Given the description of an element on the screen output the (x, y) to click on. 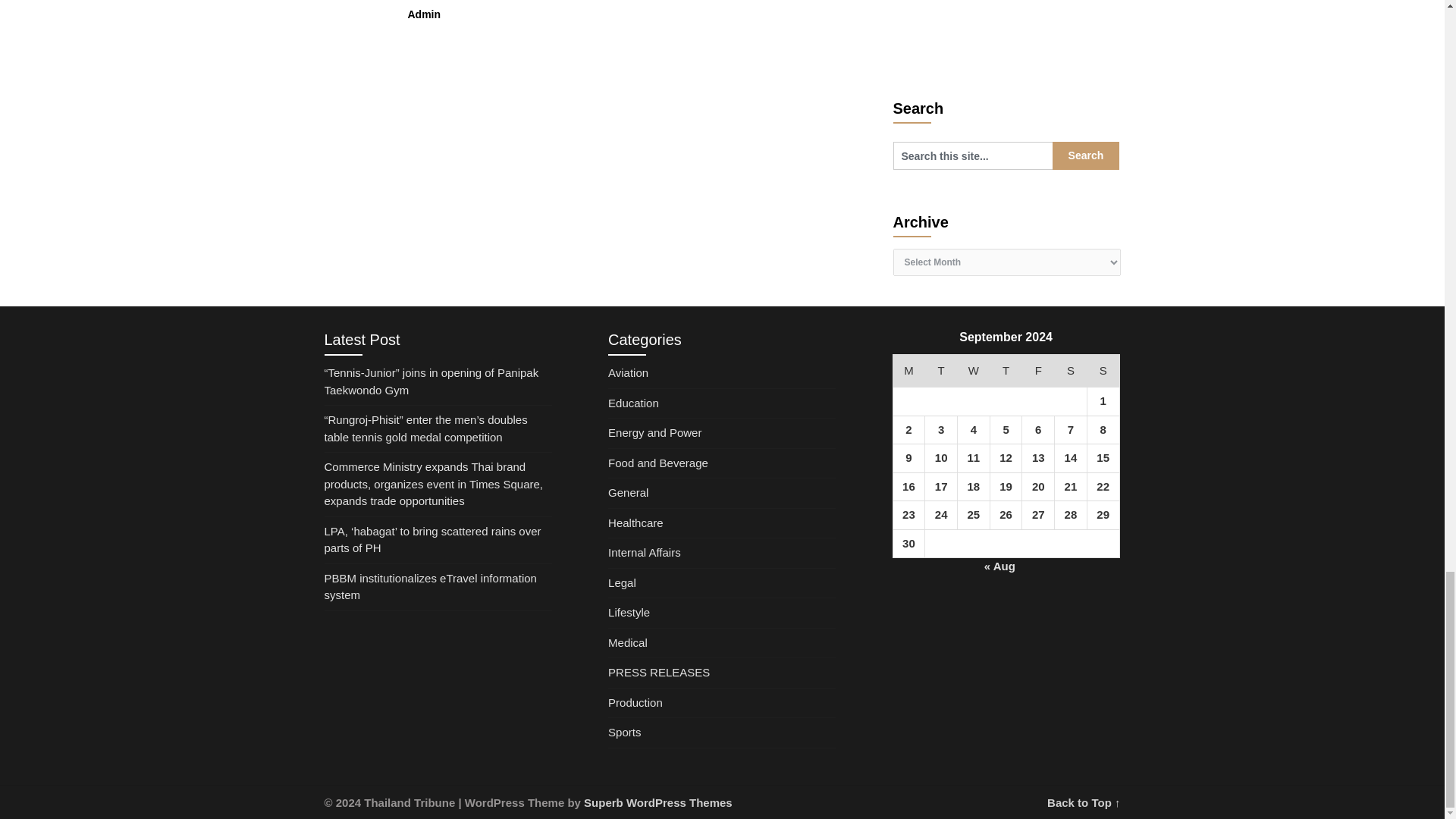
Education (633, 402)
Search (1085, 155)
Aviation (627, 372)
Search this site... (972, 155)
PBBM institutionalizes eTravel information system (430, 586)
Search (1085, 155)
